Given the description of an element on the screen output the (x, y) to click on. 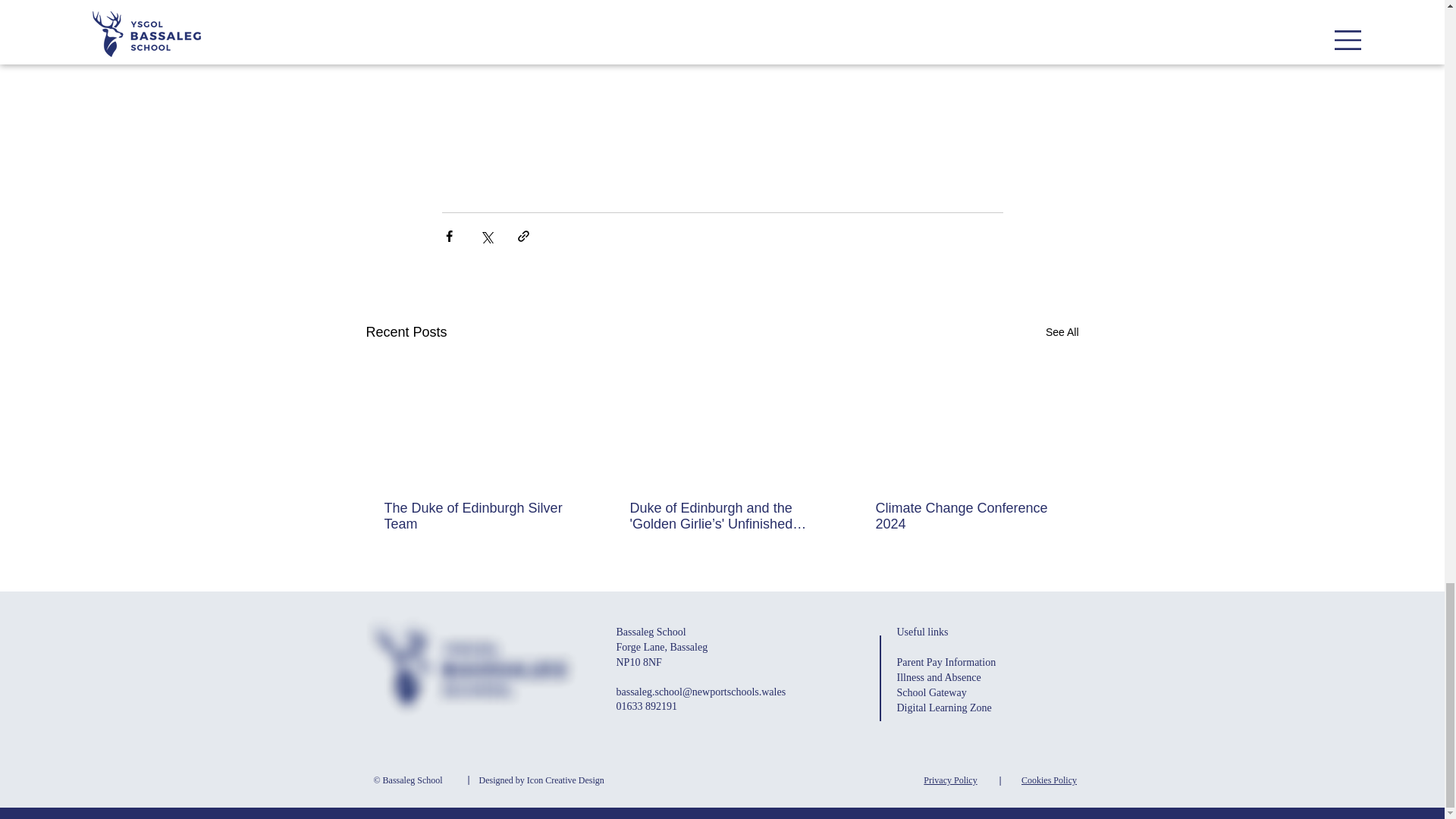
Digital Learning Zone (961, 708)
Parent Pay Information (965, 662)
See All (1061, 332)
Privacy Policy (951, 780)
School Gateway (959, 693)
Cookies Policy (1050, 780)
The Duke of Edinburgh Silver Team (475, 516)
Climate Change Conference 2024 (966, 516)
01633 892191 (646, 705)
Illness and Absence (965, 677)
Icon Creative Design (565, 779)
